Given the description of an element on the screen output the (x, y) to click on. 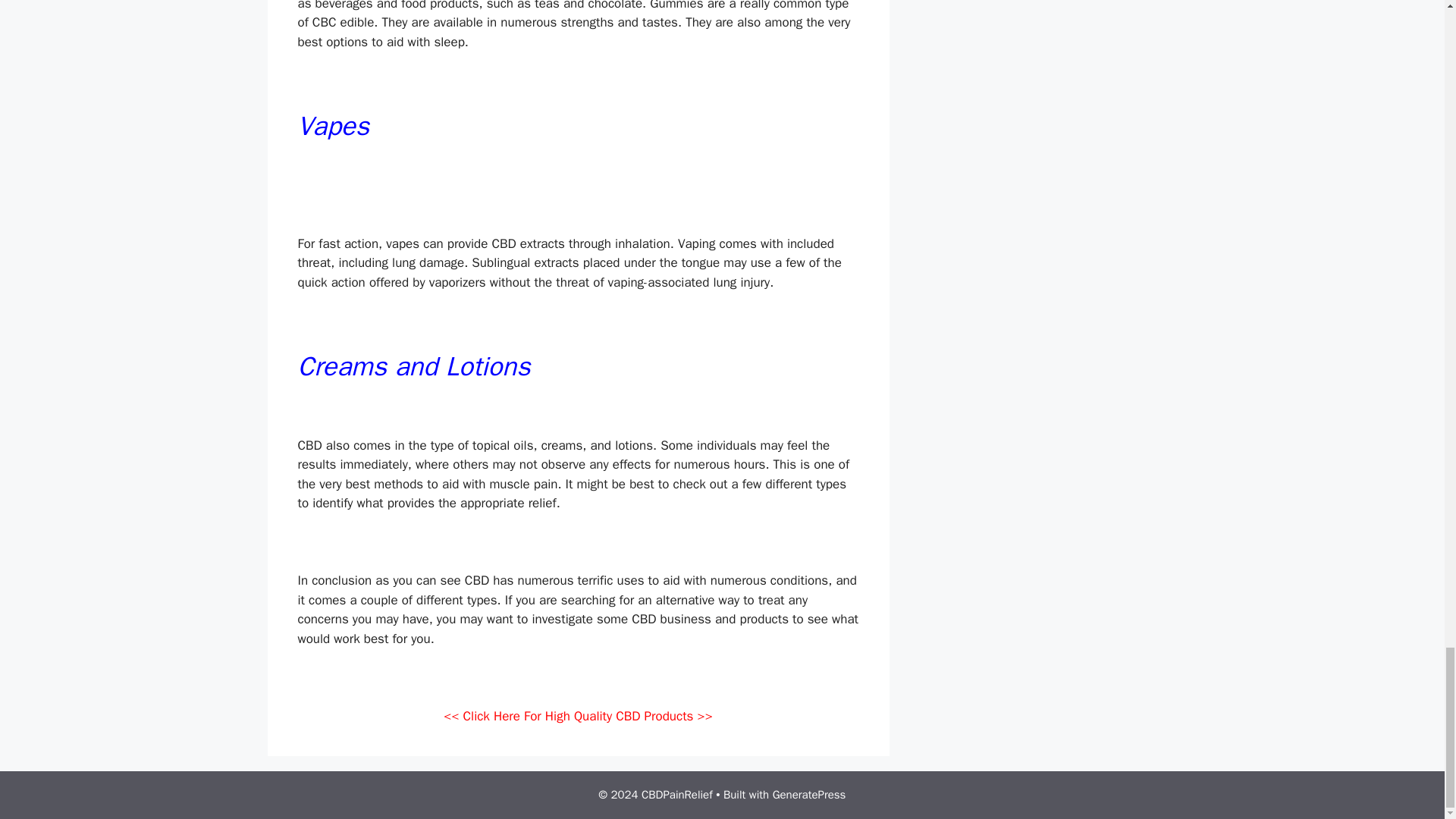
GeneratePress (809, 794)
